Given the description of an element on the screen output the (x, y) to click on. 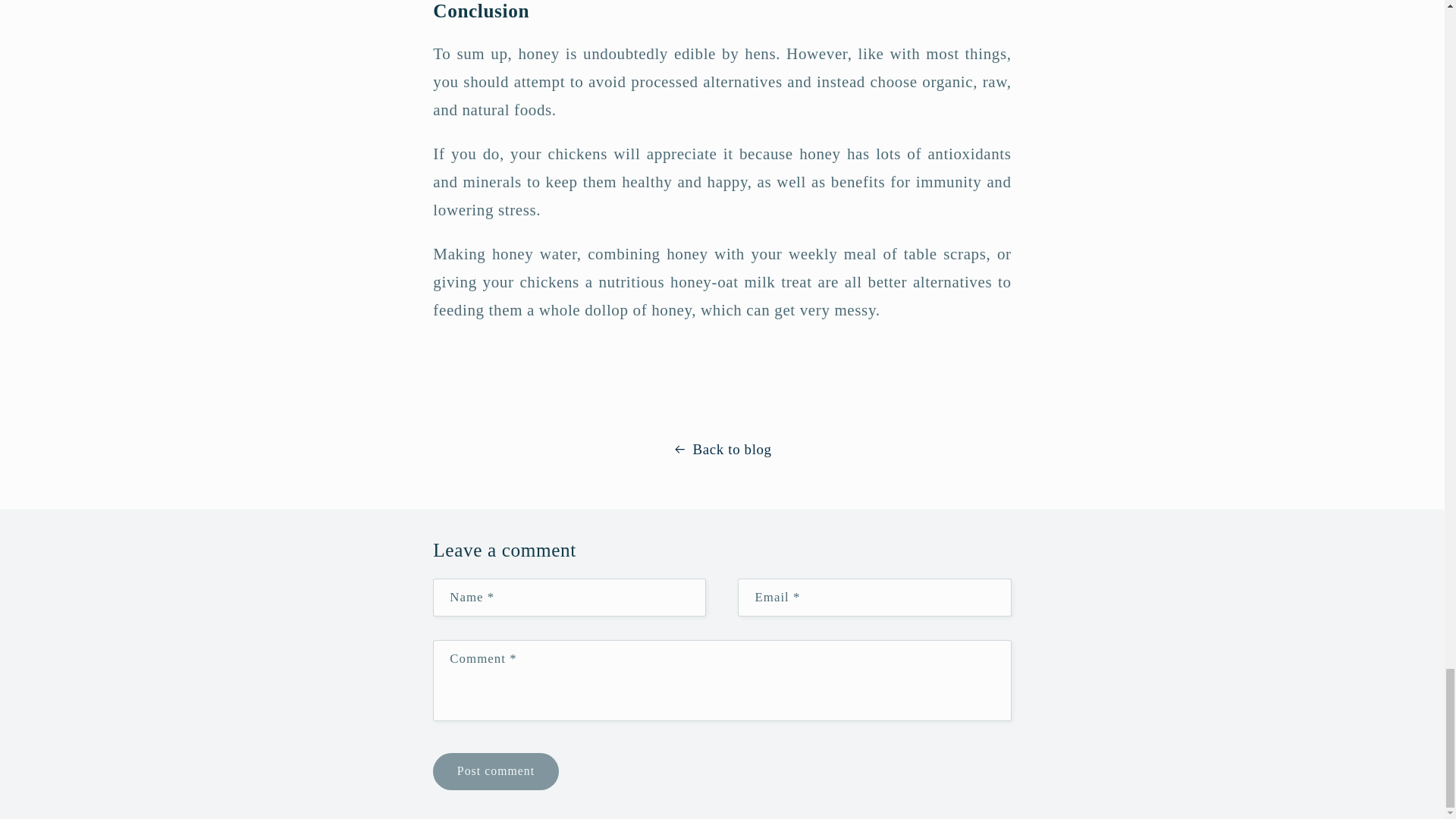
Post comment (494, 771)
Post comment (494, 771)
